Given the description of an element on the screen output the (x, y) to click on. 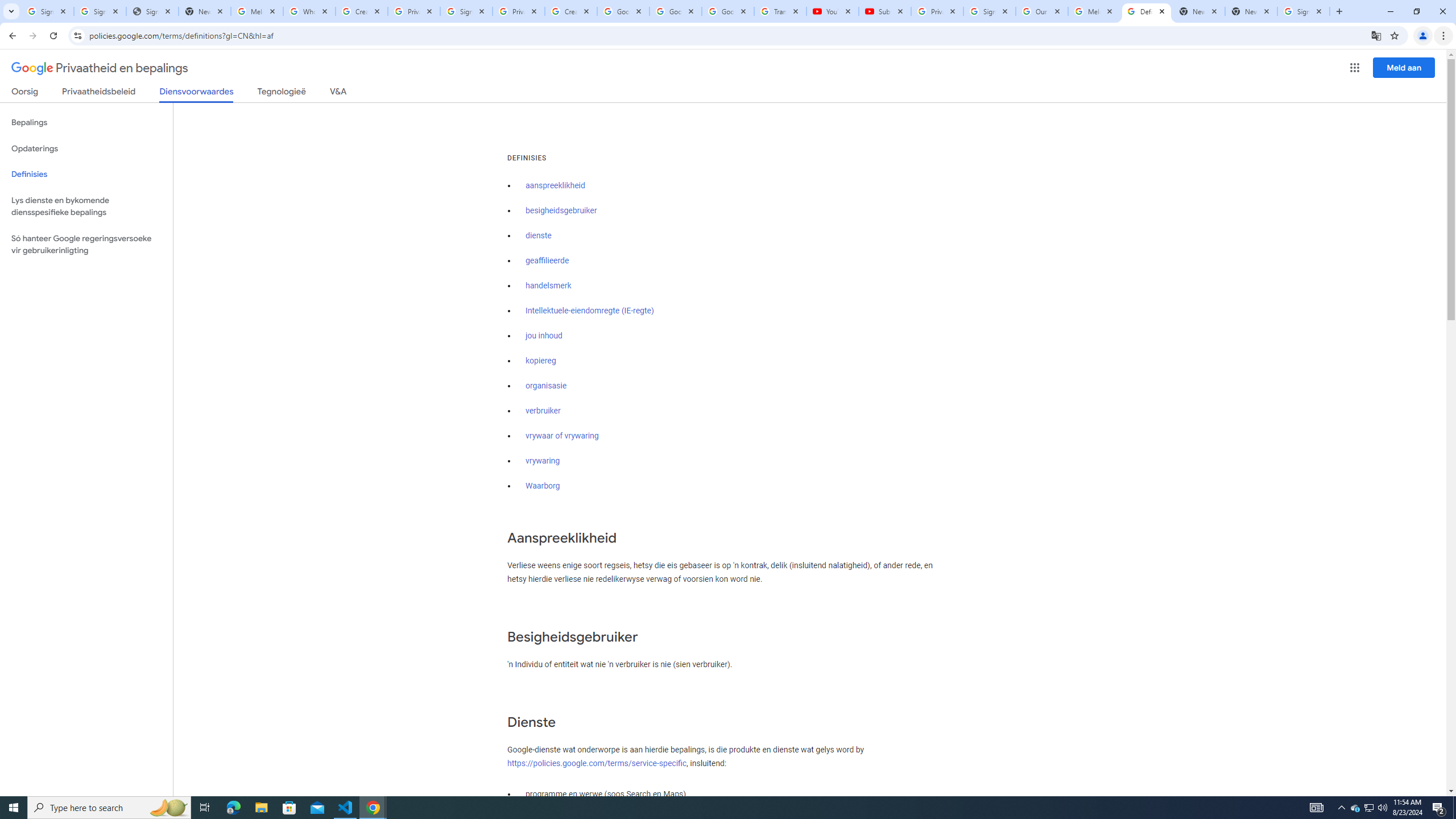
Sign in - Google Accounts (1303, 11)
Sign in - Google Accounts (99, 11)
aanspreeklikheid (555, 185)
Lys dienste en bykomende diensspesifieke bepalings (86, 206)
Sign in - Google Accounts (47, 11)
Privaatheid en bepalings (99, 68)
